Given the description of an element on the screen output the (x, y) to click on. 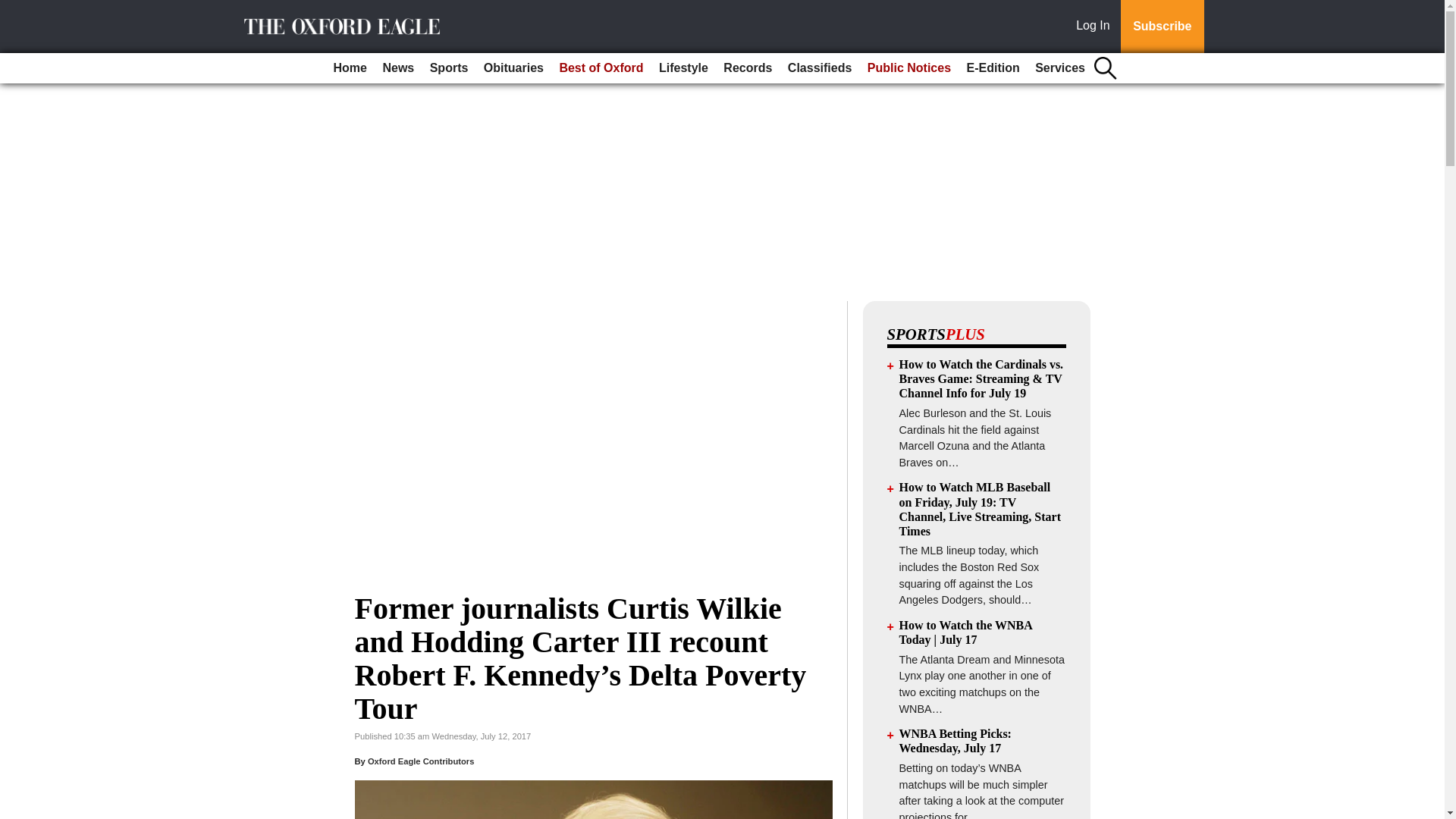
Go (13, 9)
Best of Oxford (601, 68)
Home (349, 68)
Lifestyle (683, 68)
News (397, 68)
Records (747, 68)
Services (1059, 68)
Oxford Eagle Contributors (421, 760)
Sports (448, 68)
Public Notices (908, 68)
Log In (1095, 26)
WNBA Betting Picks: Wednesday, July 17 (955, 740)
E-Edition (992, 68)
Obituaries (513, 68)
